Given the description of an element on the screen output the (x, y) to click on. 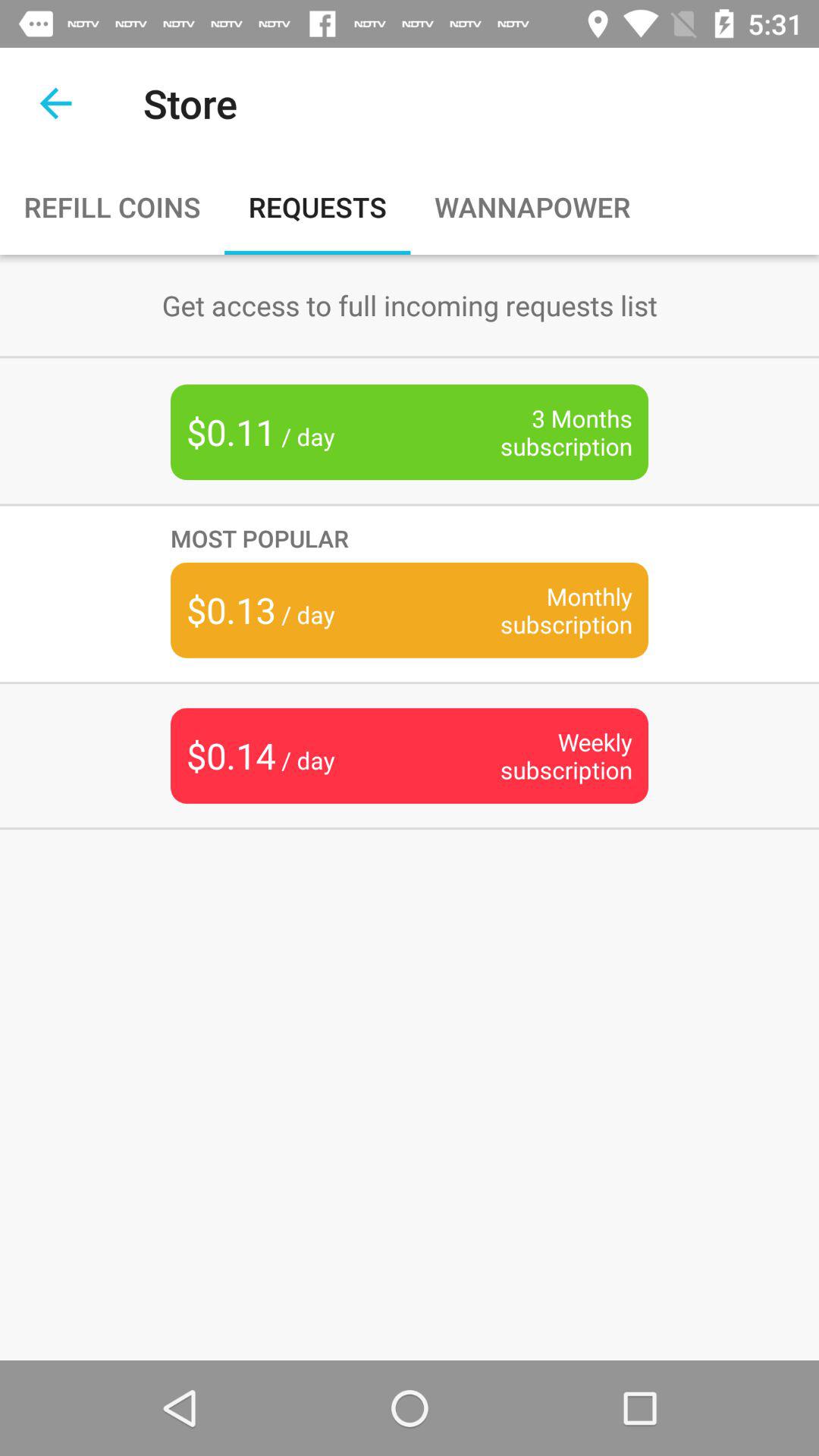
turn off item above the most popular icon (543, 432)
